Given the description of an element on the screen output the (x, y) to click on. 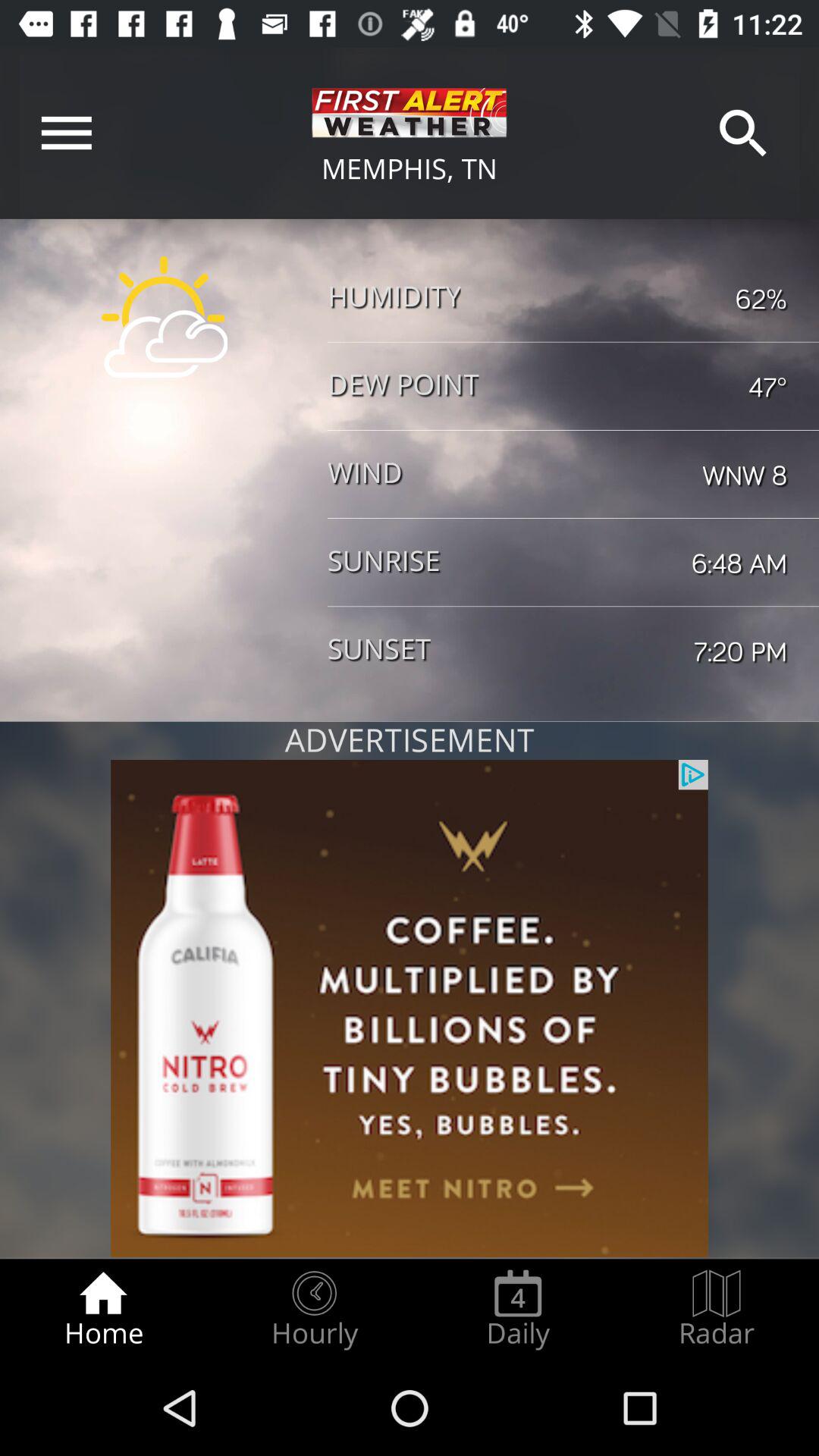
choose item at the bottom right corner (716, 1309)
